Given the description of an element on the screen output the (x, y) to click on. 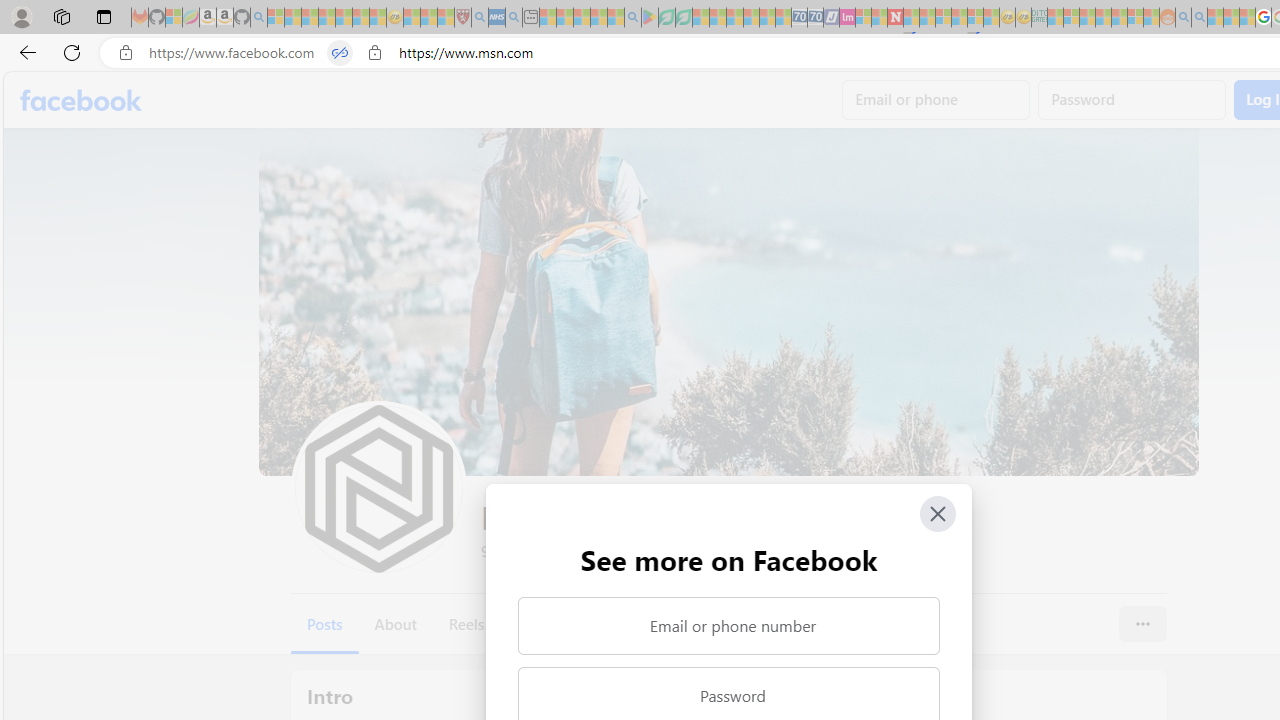
14 Common Myths Debunked By Scientific Facts - Sleeping (927, 17)
Expert Portfolios - Sleeping (1103, 17)
MSNBC - MSN - Sleeping (1055, 17)
Jobs - lastminute.com Investor Portal - Sleeping (847, 17)
Facebook (81, 99)
